Given the description of an element on the screen output the (x, y) to click on. 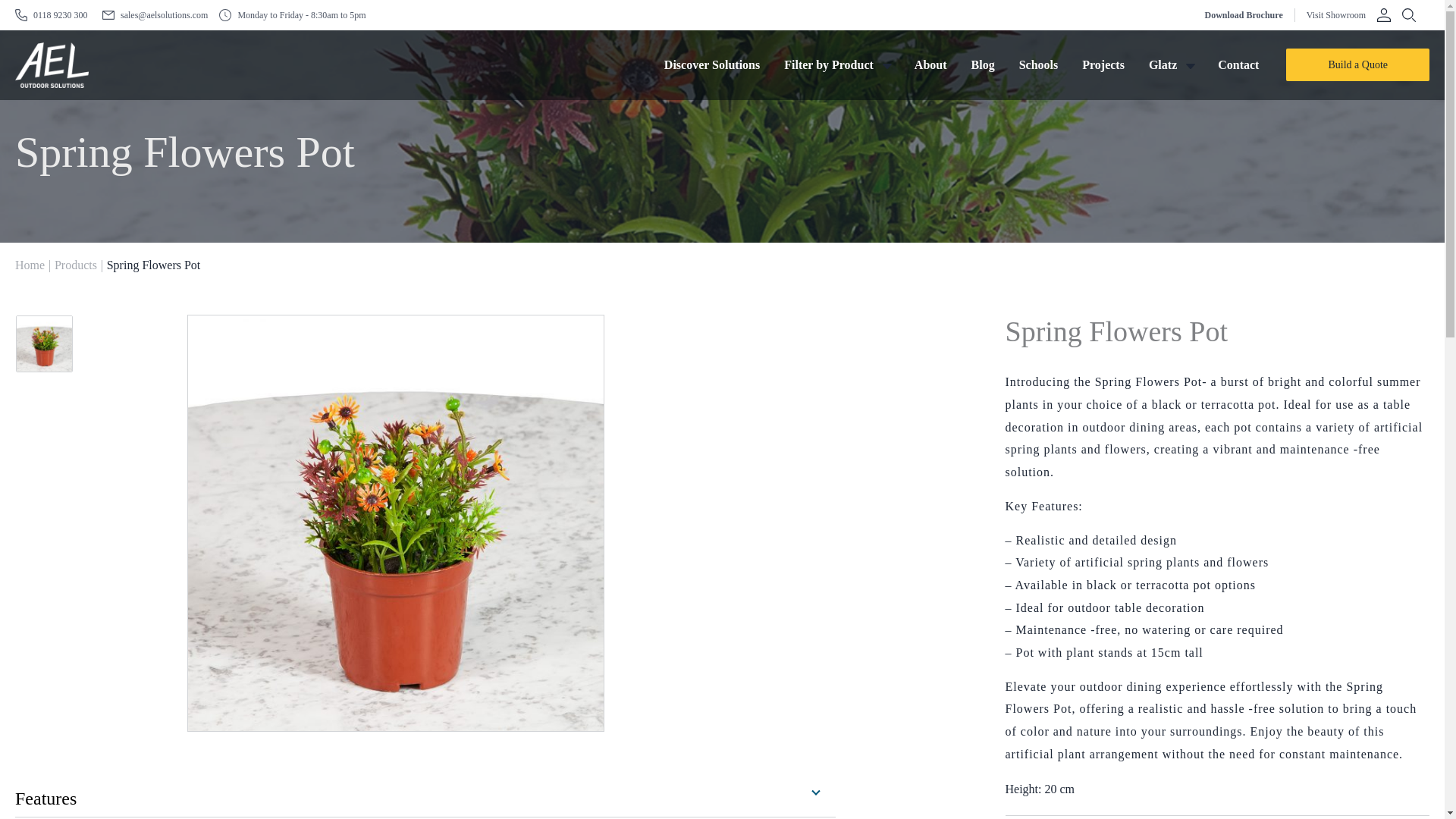
Visit Showroom (1335, 14)
Spring Flowers Pot (67, 343)
Download Brochure (1243, 14)
Filter by Product (836, 64)
Discover Solutions (711, 64)
